Given the description of an element on the screen output the (x, y) to click on. 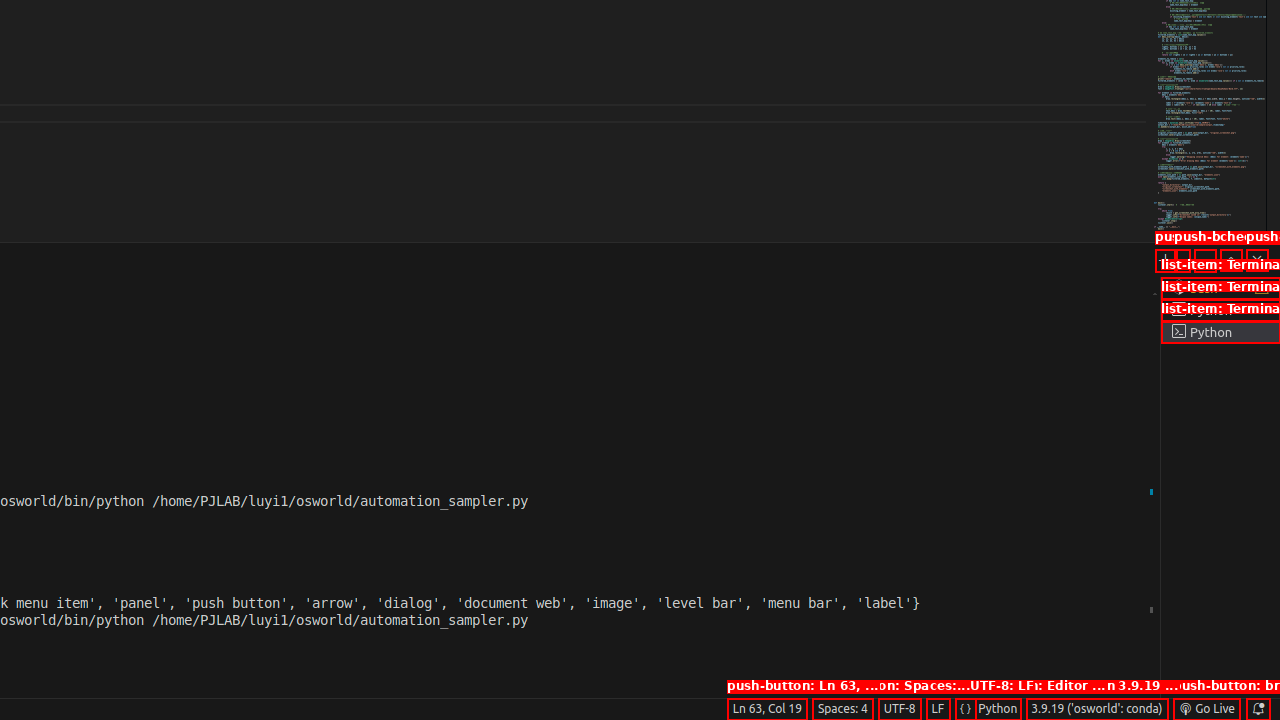
New Terminal (Ctrl+Shift+`) [Alt] Split Terminal (Ctrl+Shift+5) Element type: push-button (1166, 260)
Views and More Actions... Element type: push-button (1205, 260)
3.9.19 ('osworld': conda), ~/anaconda3/envs/osworld/bin/python Element type: push-button (1097, 709)
Spaces: 4 Element type: push-button (842, 709)
Terminal 1 bash Element type: list-item (1220, 288)
